Given the description of an element on the screen output the (x, y) to click on. 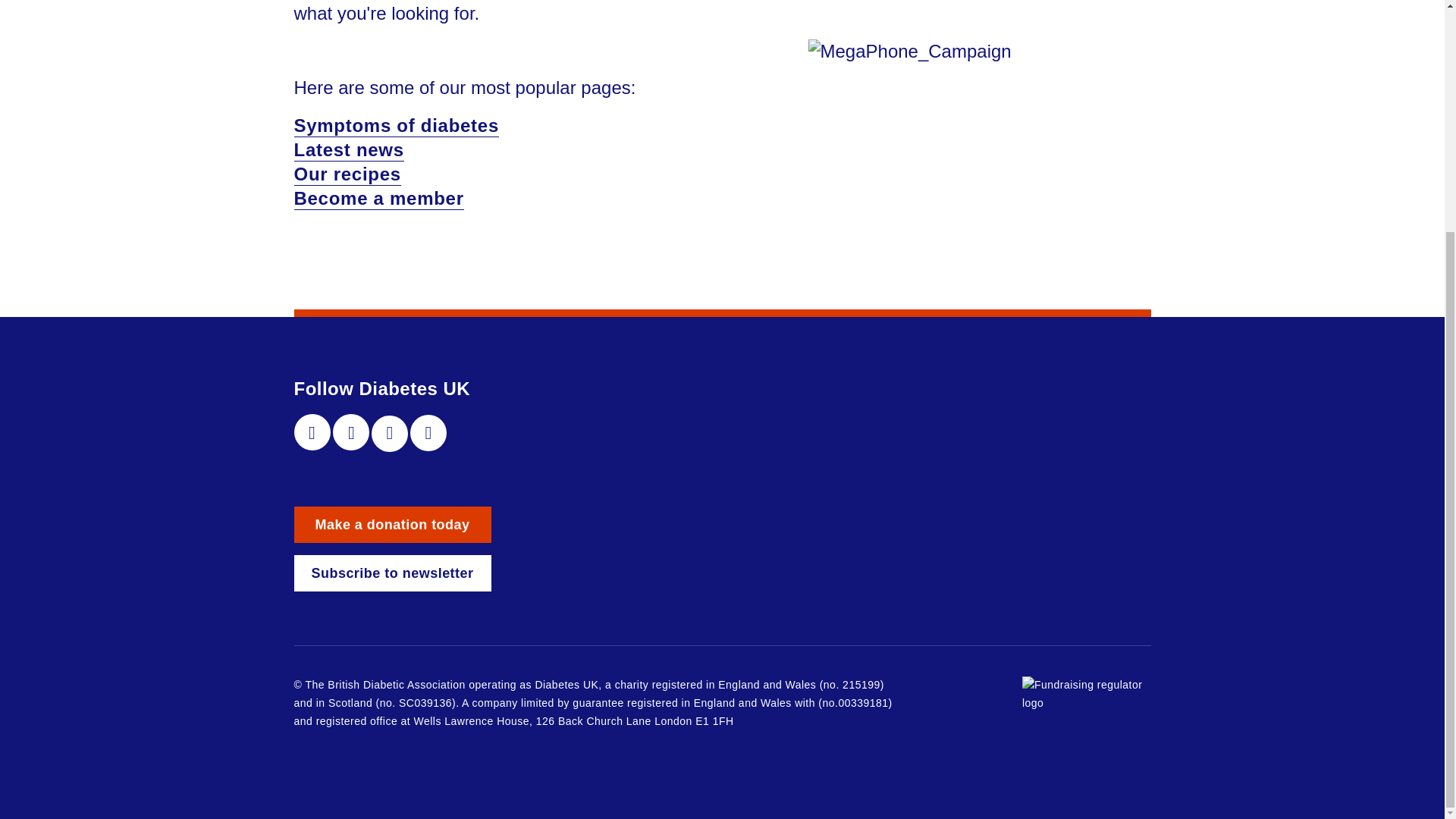
Become a member (379, 198)
Symptoms of diabetes (396, 126)
Make a donation today (393, 524)
Latest news (349, 150)
Fundraising regulator logo (1086, 694)
Our recipes (347, 174)
